Given the description of an element on the screen output the (x, y) to click on. 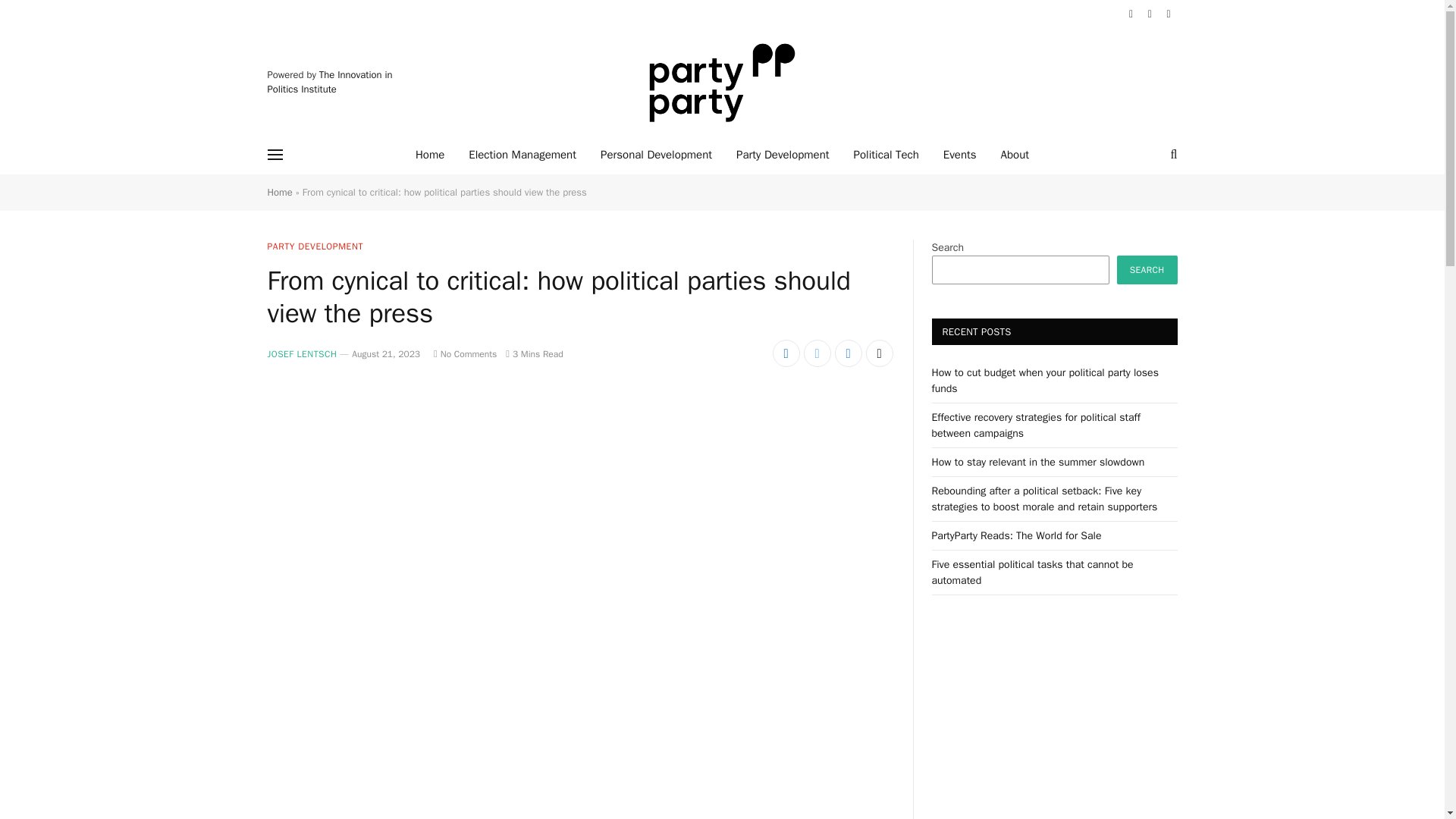
Personal Development (655, 154)
The Innovation in Politics Institute (328, 81)
PartyParty (721, 81)
Home (430, 154)
Home (279, 192)
Posts by Josef Lentsch (301, 354)
Political Tech (886, 154)
Share on LinkedIn (785, 352)
No Comments (464, 354)
